Given the description of an element on the screen output the (x, y) to click on. 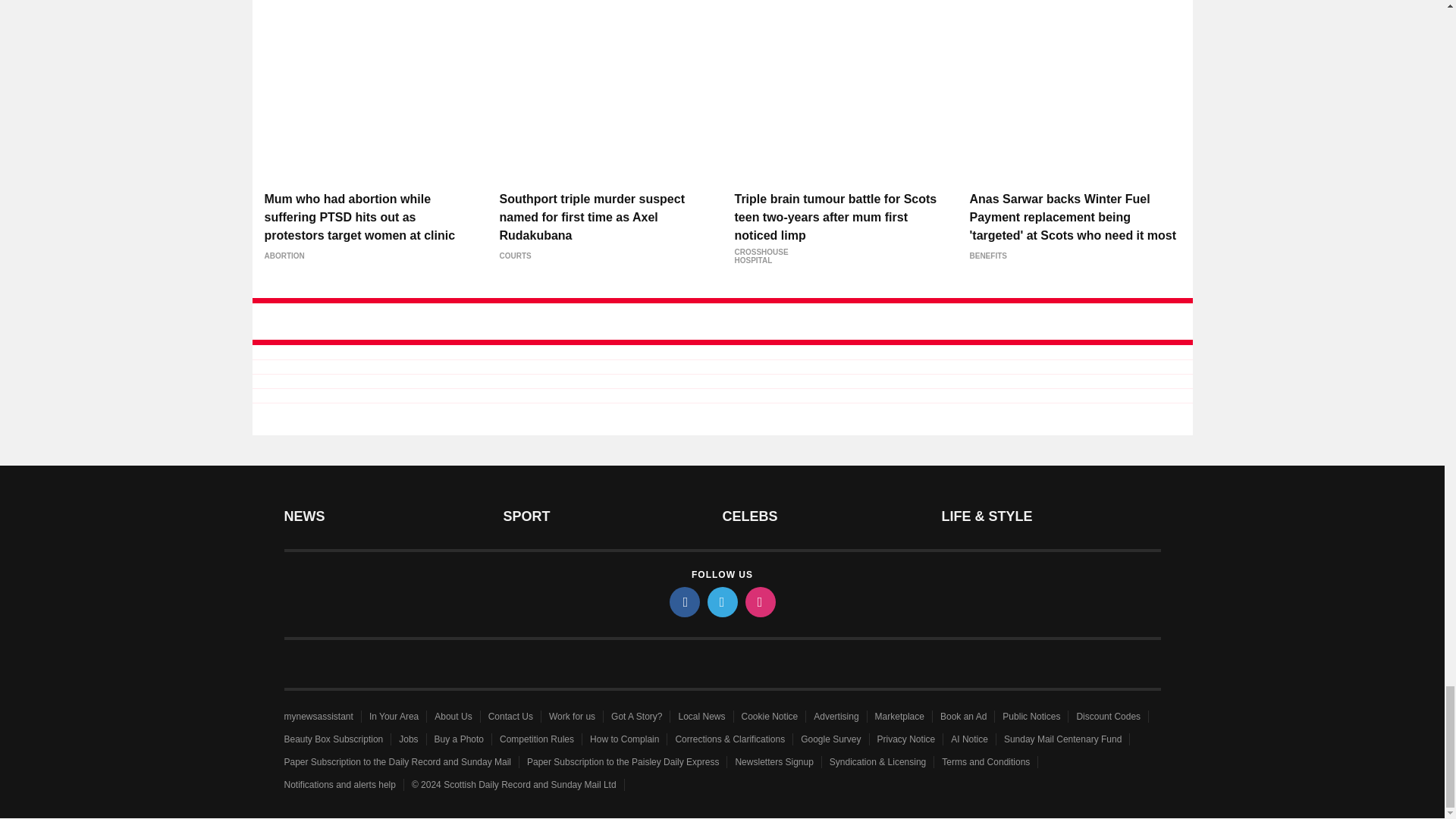
twitter (721, 602)
facebook (683, 602)
instagram (759, 602)
